Given the description of an element on the screen output the (x, y) to click on. 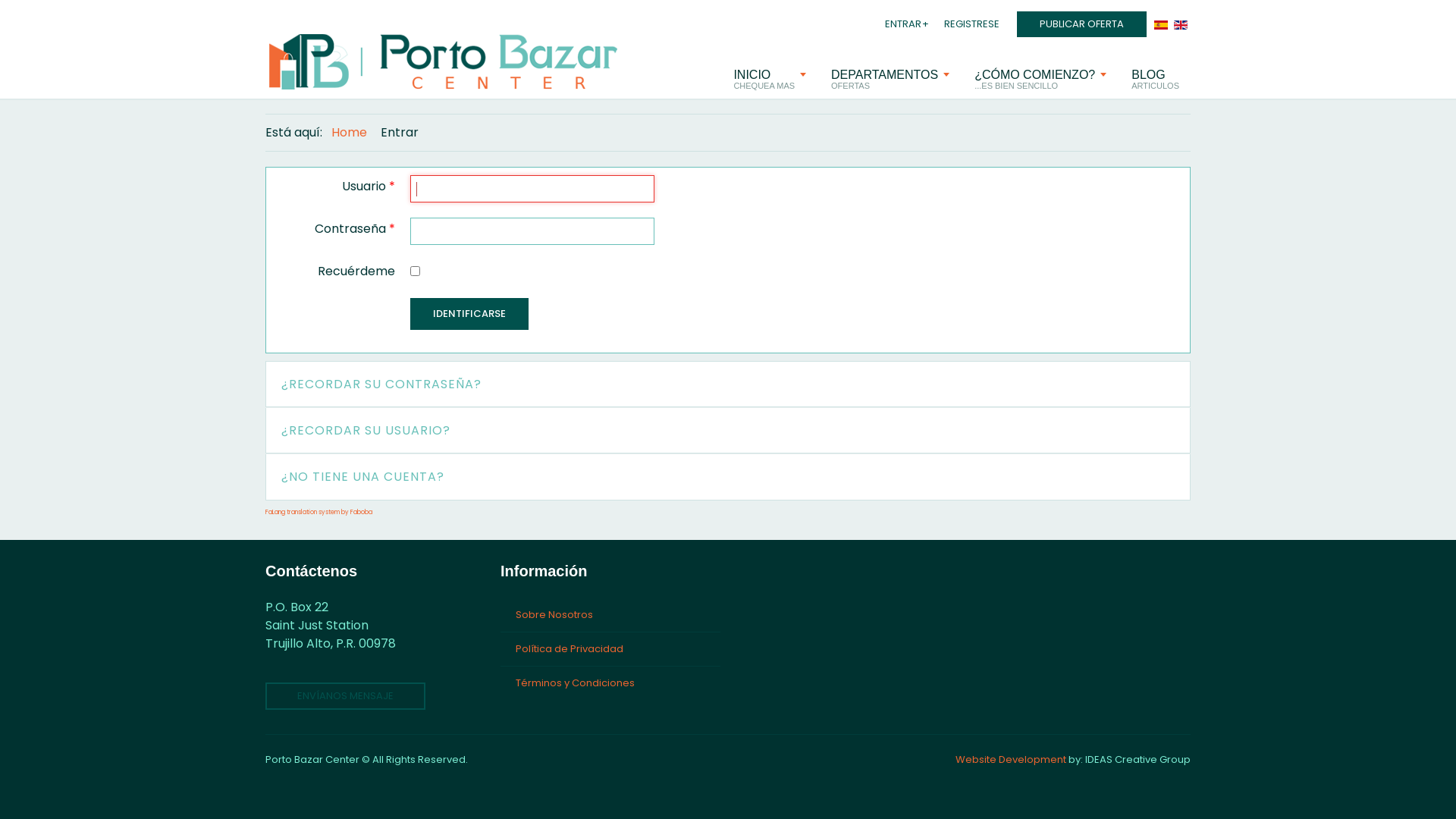
English (US) Element type: hover (1180, 24)
Home Element type: text (349, 132)
PUBLICAR OFERTA Element type: text (1081, 24)
REGISTRESE Element type: text (967, 24)
INICIO
CHEQUEA MAS Element type: text (769, 79)
Website Development Element type: text (1010, 759)
DEPARTAMENTOS
OFERTAS Element type: text (889, 79)
ENTRAR Element type: text (898, 24)
FaLang translation system by Faboba Element type: text (318, 512)
IDENTIFICARSE Element type: text (469, 313)
BLOG
ARTICULOS Element type: text (1155, 79)
Sobre Nosotros Element type: text (610, 614)
